Given the description of an element on the screen output the (x, y) to click on. 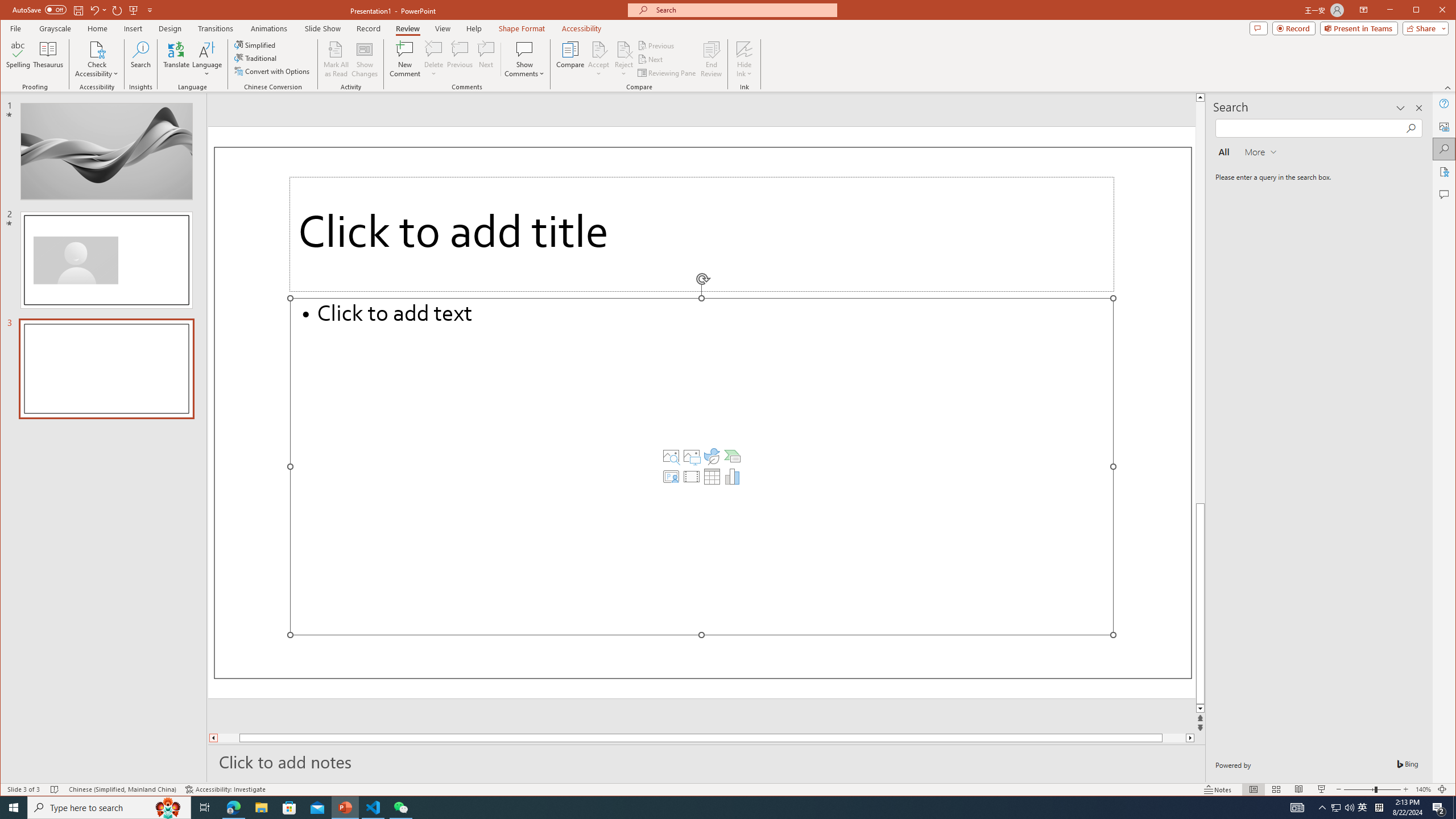
Previous (657, 45)
Simplified (255, 44)
Insert a SmartArt Graphic (732, 456)
Reject Change (623, 48)
